Given the description of an element on the screen output the (x, y) to click on. 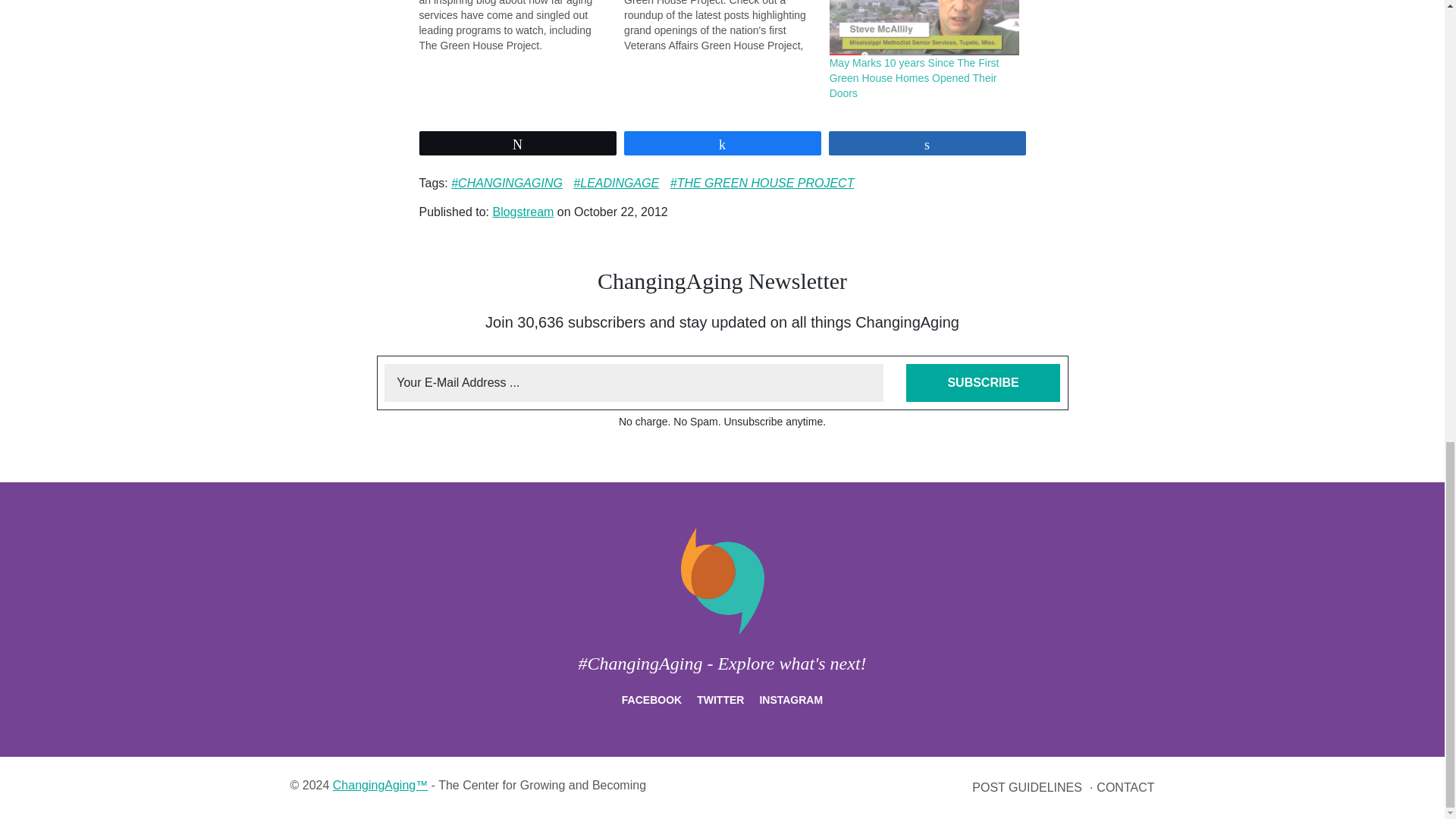
Blogstream (522, 211)
Green House Project New Openings and LeadingAge Videos (726, 26)
Subscribe (982, 382)
Subscribe (982, 382)
LEADINGAGE (616, 183)
THE GREEN HOUSE PROJECT (761, 183)
CHANGINGAGING (506, 183)
